Given the description of an element on the screen output the (x, y) to click on. 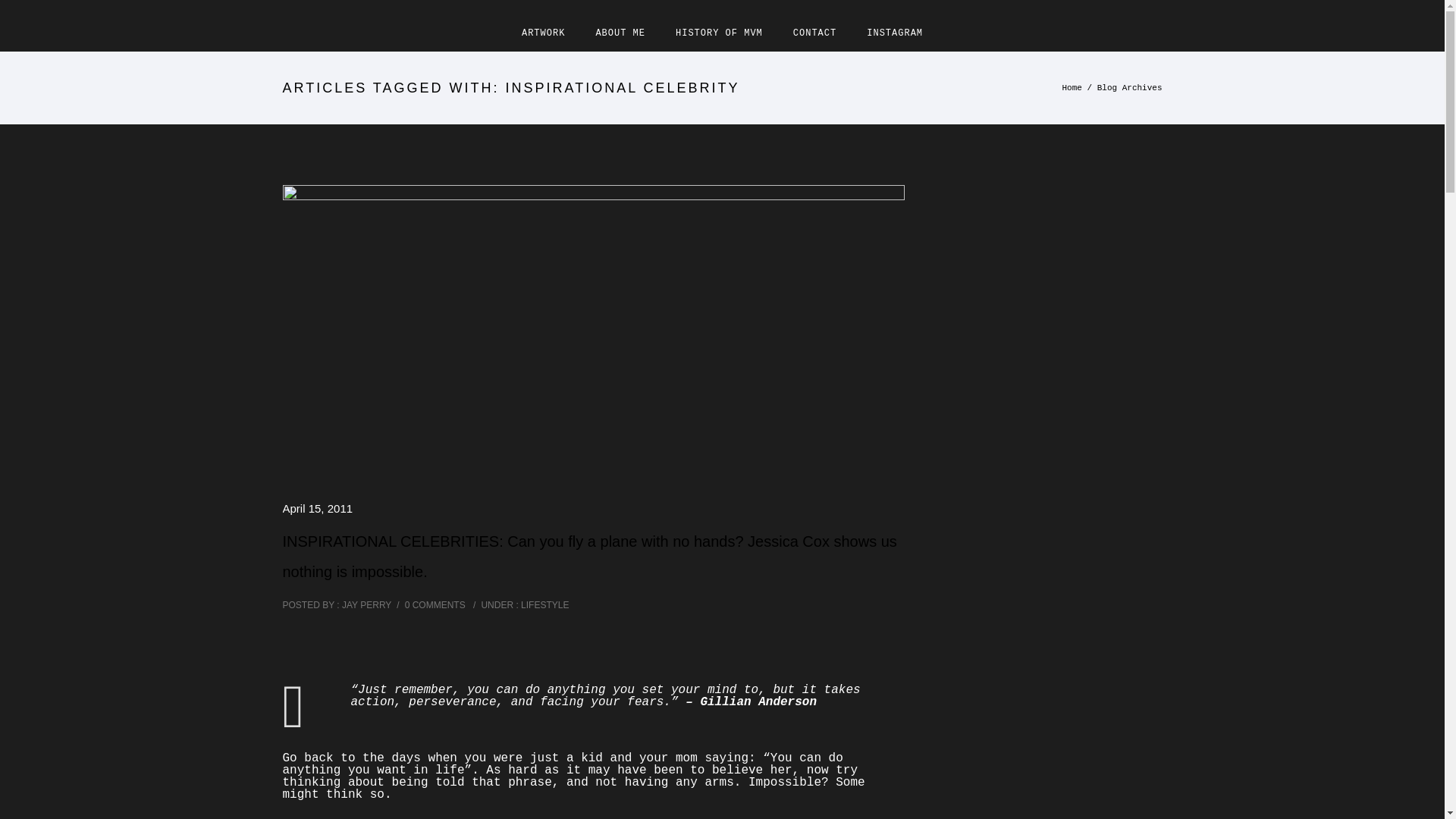
Instagram (894, 32)
LIFESTYLE (543, 604)
0 COMMENTS (434, 604)
ARTWORK (542, 32)
CONTACT (814, 32)
HISTORY OF MVM (719, 32)
Artwork (542, 32)
Home (1071, 87)
April 15, 2011 (317, 508)
Contact (814, 32)
